Given the description of an element on the screen output the (x, y) to click on. 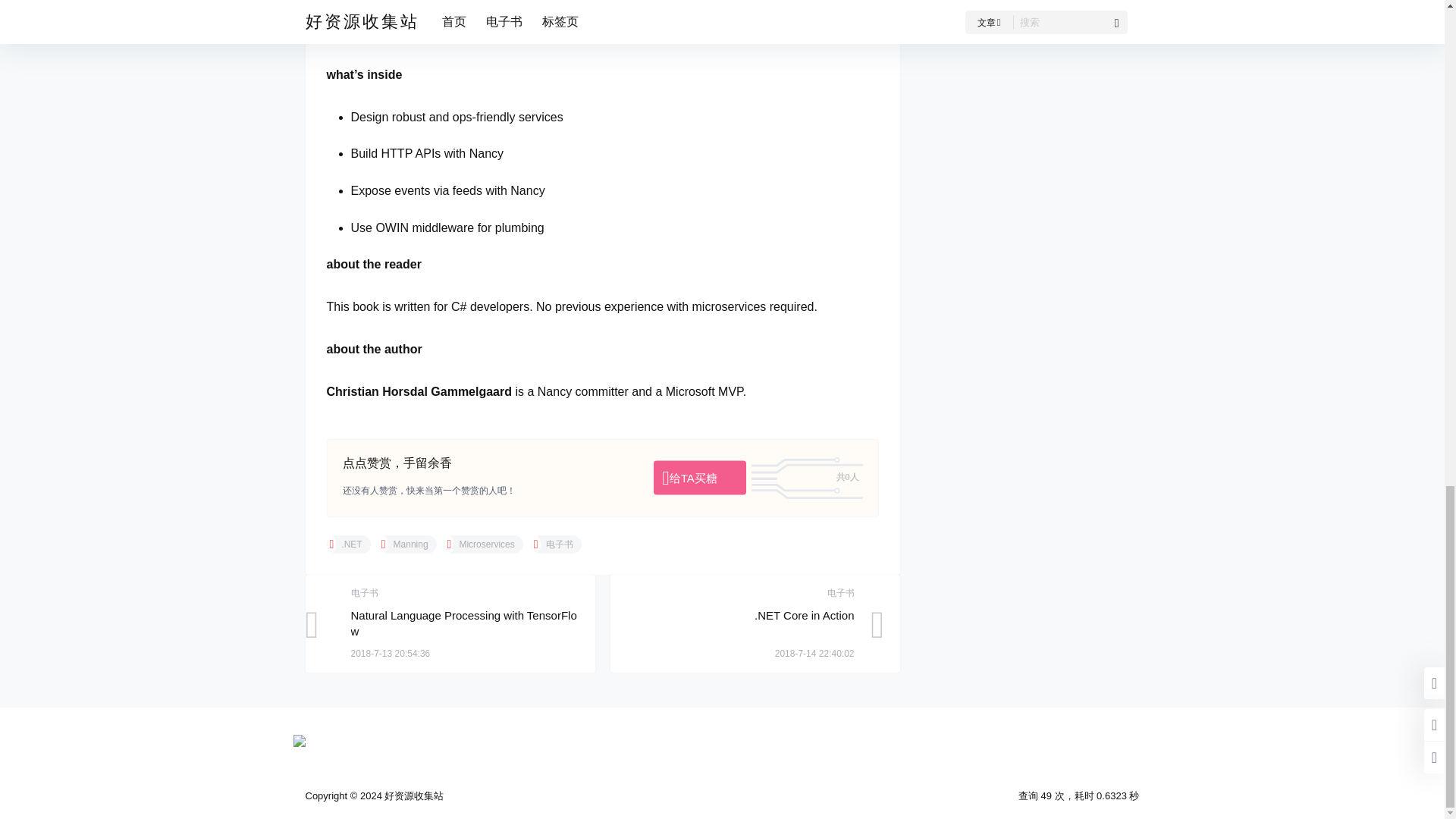
.NET (347, 544)
Natural Language Processing with TensorFlow (463, 623)
.NET Core in Action (803, 615)
Microservices (483, 544)
Manning (407, 544)
